Given the description of an element on the screen output the (x, y) to click on. 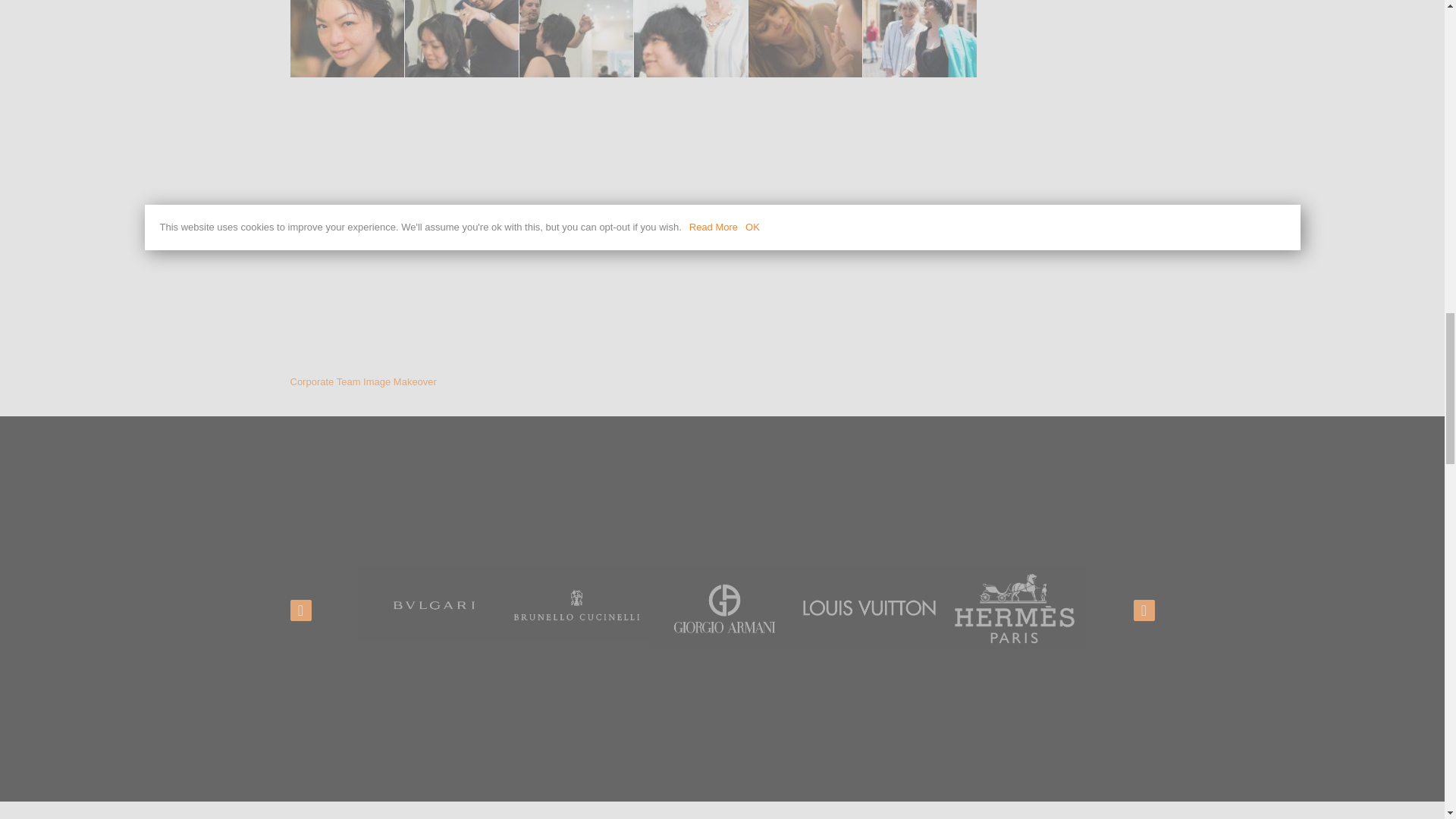
IMG17 (690, 38)
IMG18 (804, 38)
IMG16 (574, 38)
IMG21 (919, 38)
IMG14 (346, 38)
Corporate Team Image Makeover (362, 381)
IMG15 (461, 38)
